Given the description of an element on the screen output the (x, y) to click on. 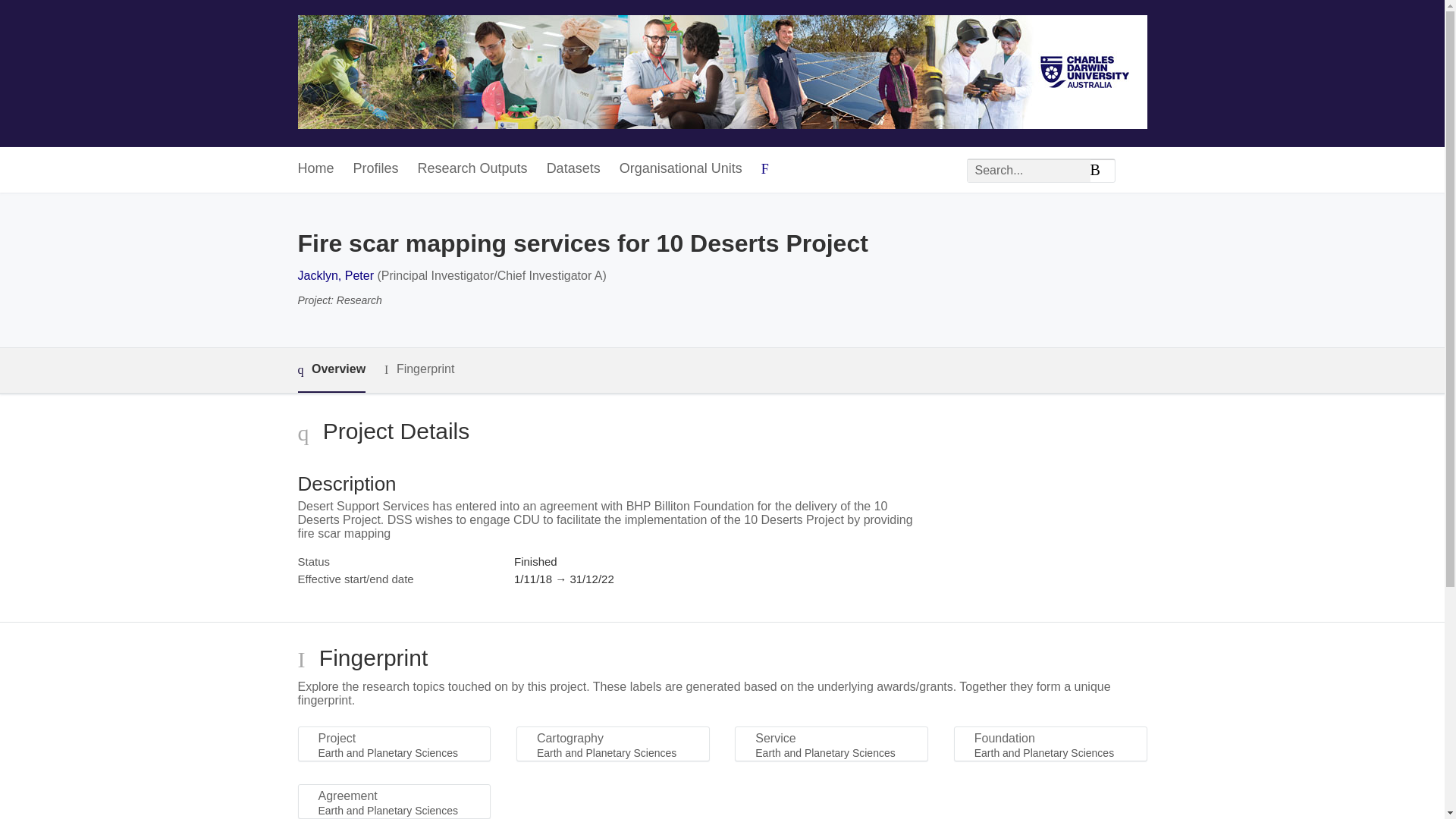
Charles Darwin University Home (722, 73)
Research Outputs (472, 169)
Overview (331, 370)
Jacklyn, Peter (334, 275)
Fingerprint (419, 369)
Datasets (573, 169)
Profiles (375, 169)
Organisational Units (681, 169)
